Given the description of an element on the screen output the (x, y) to click on. 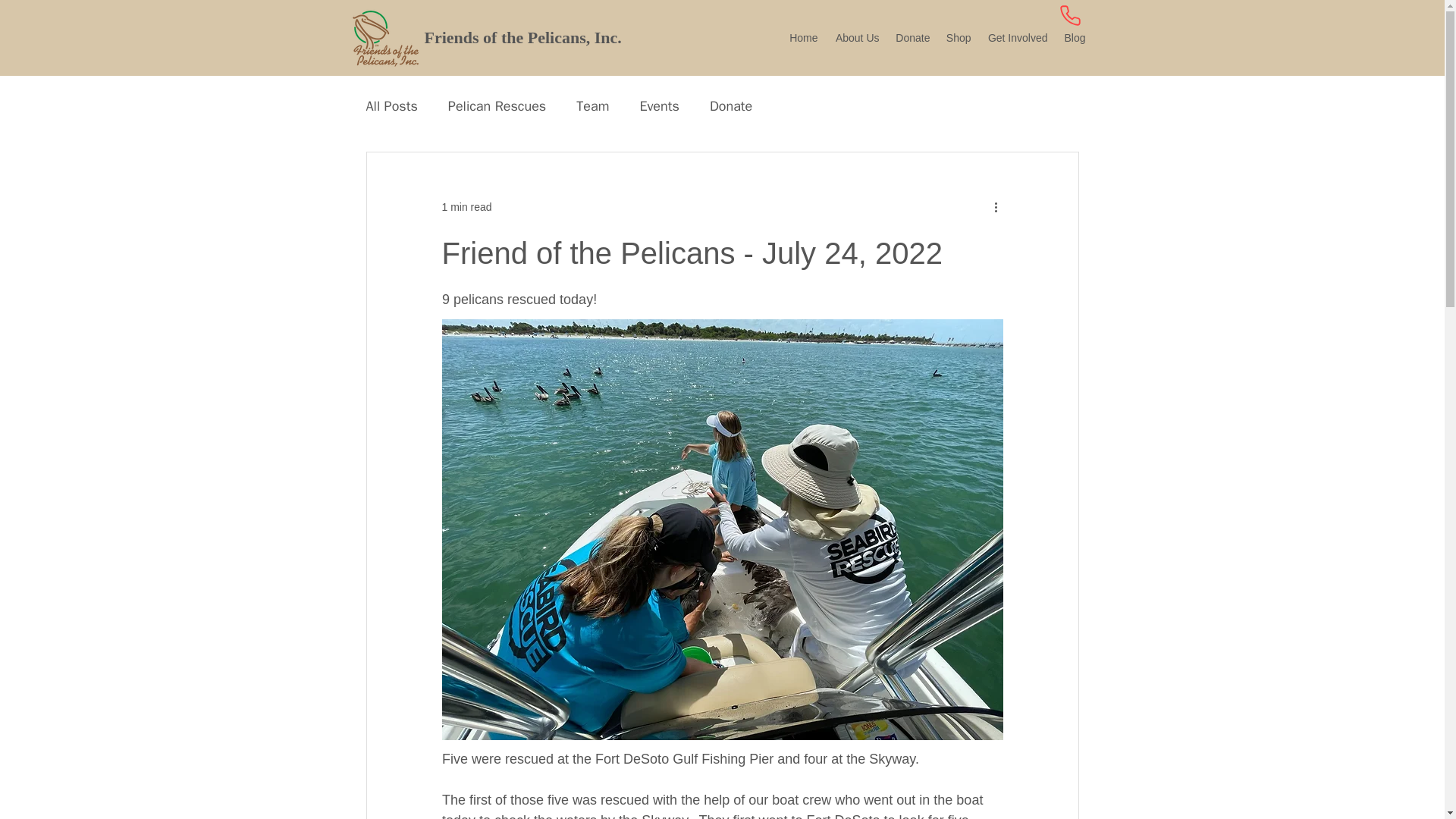
About Us (855, 37)
Team (592, 106)
Home (802, 37)
All Posts (390, 106)
Get Involved (1016, 37)
Donate (911, 37)
Donate (731, 106)
Pelican Rescues (497, 106)
Blog (1074, 37)
Shop (957, 37)
